Given the description of an element on the screen output the (x, y) to click on. 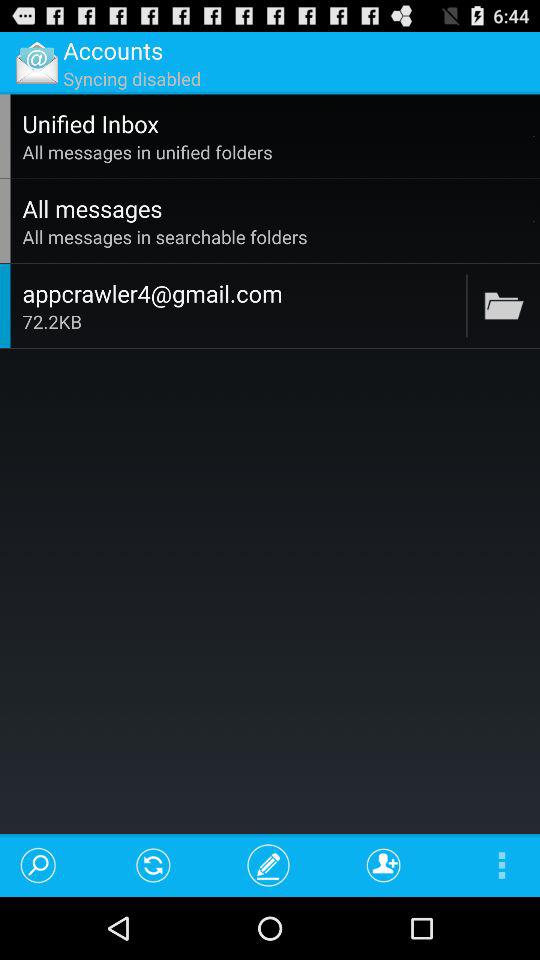
click app above all messages in icon (275, 123)
